Given the description of an element on the screen output the (x, y) to click on. 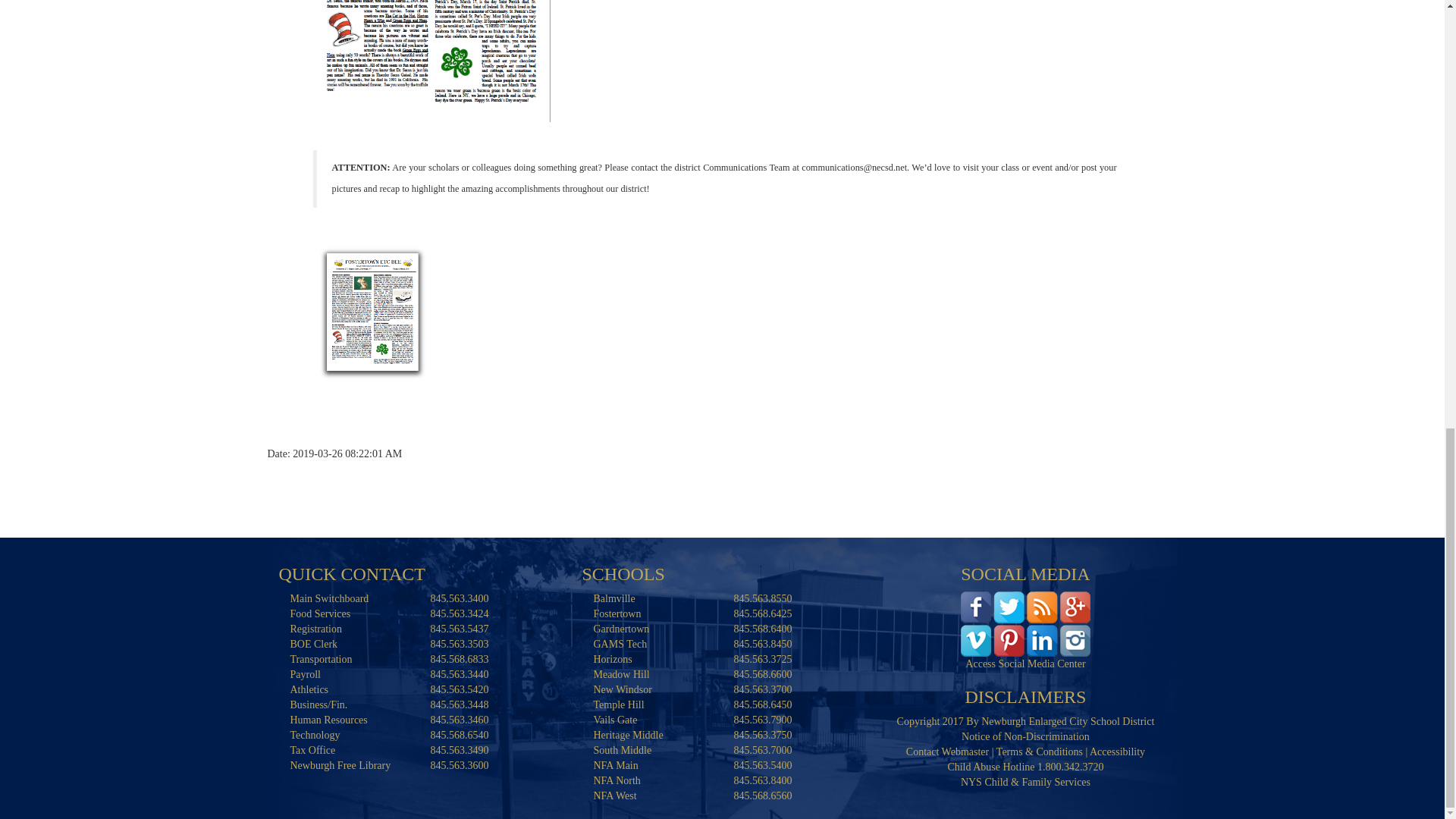
Access Social Media Center (1025, 622)
